Given the description of an element on the screen output the (x, y) to click on. 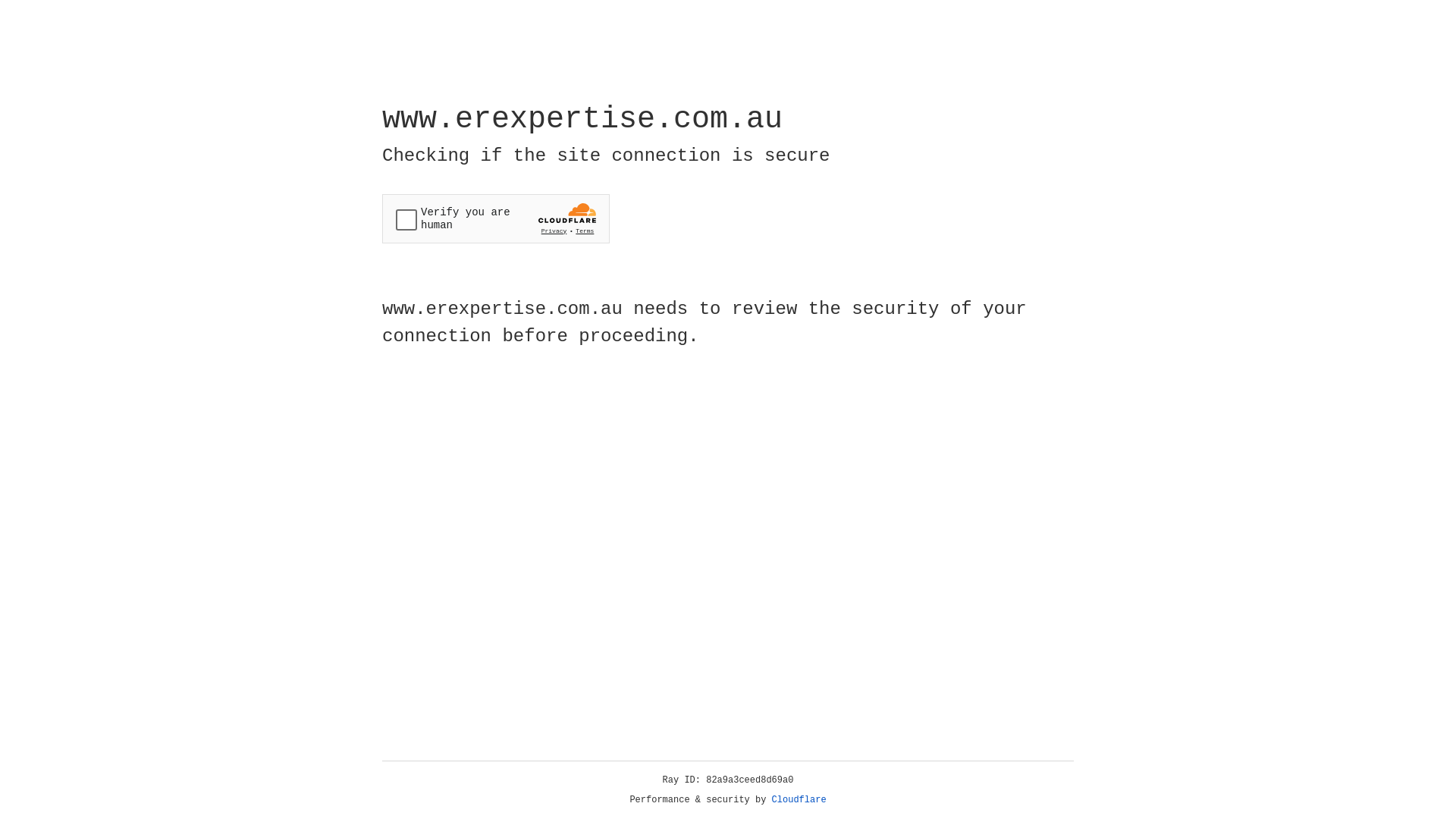
Cloudflare Element type: text (798, 799)
Widget containing a Cloudflare security challenge Element type: hover (495, 218)
